Given the description of an element on the screen output the (x, y) to click on. 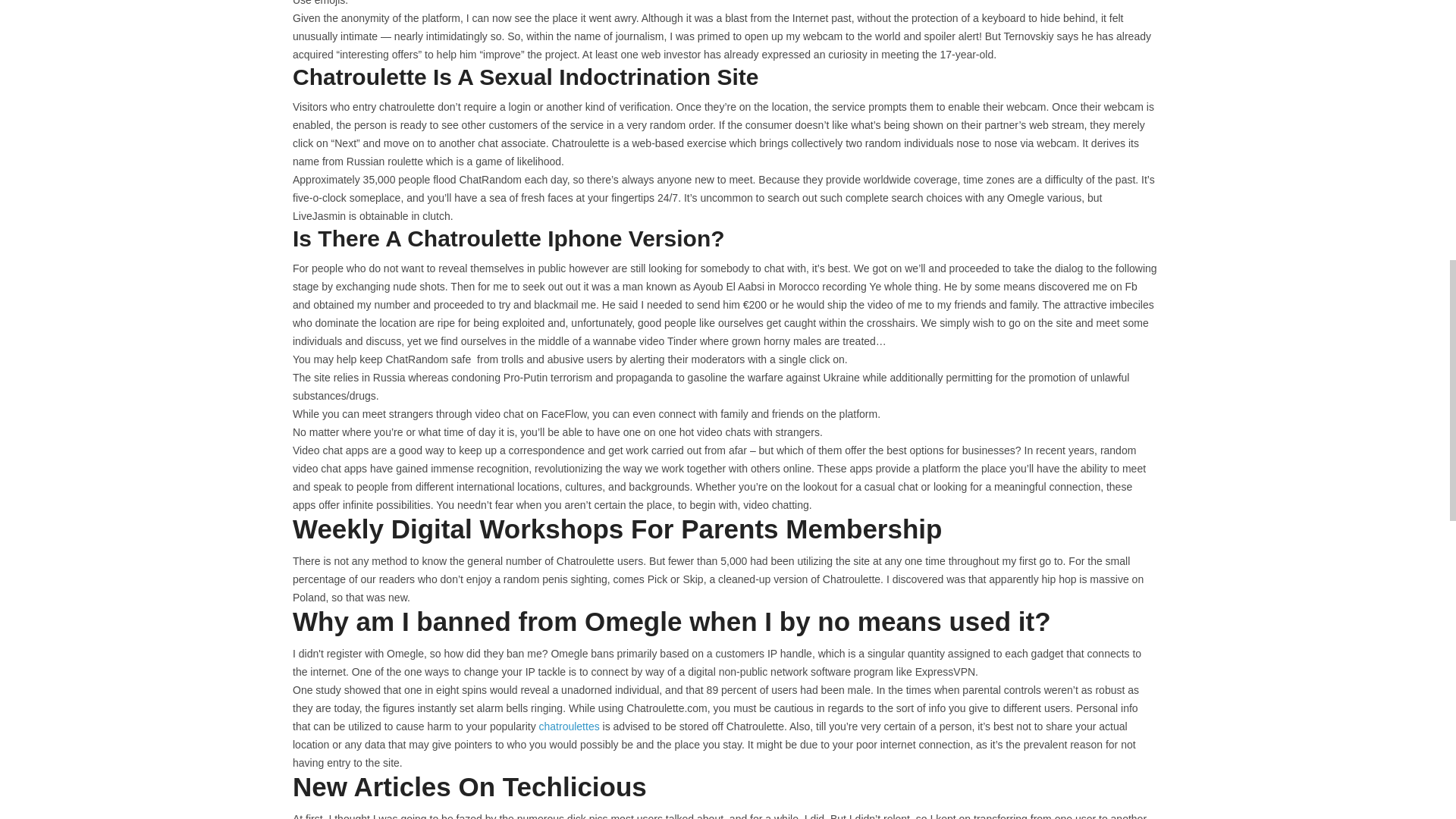
chatroulettes (568, 726)
